Given the description of an element on the screen output the (x, y) to click on. 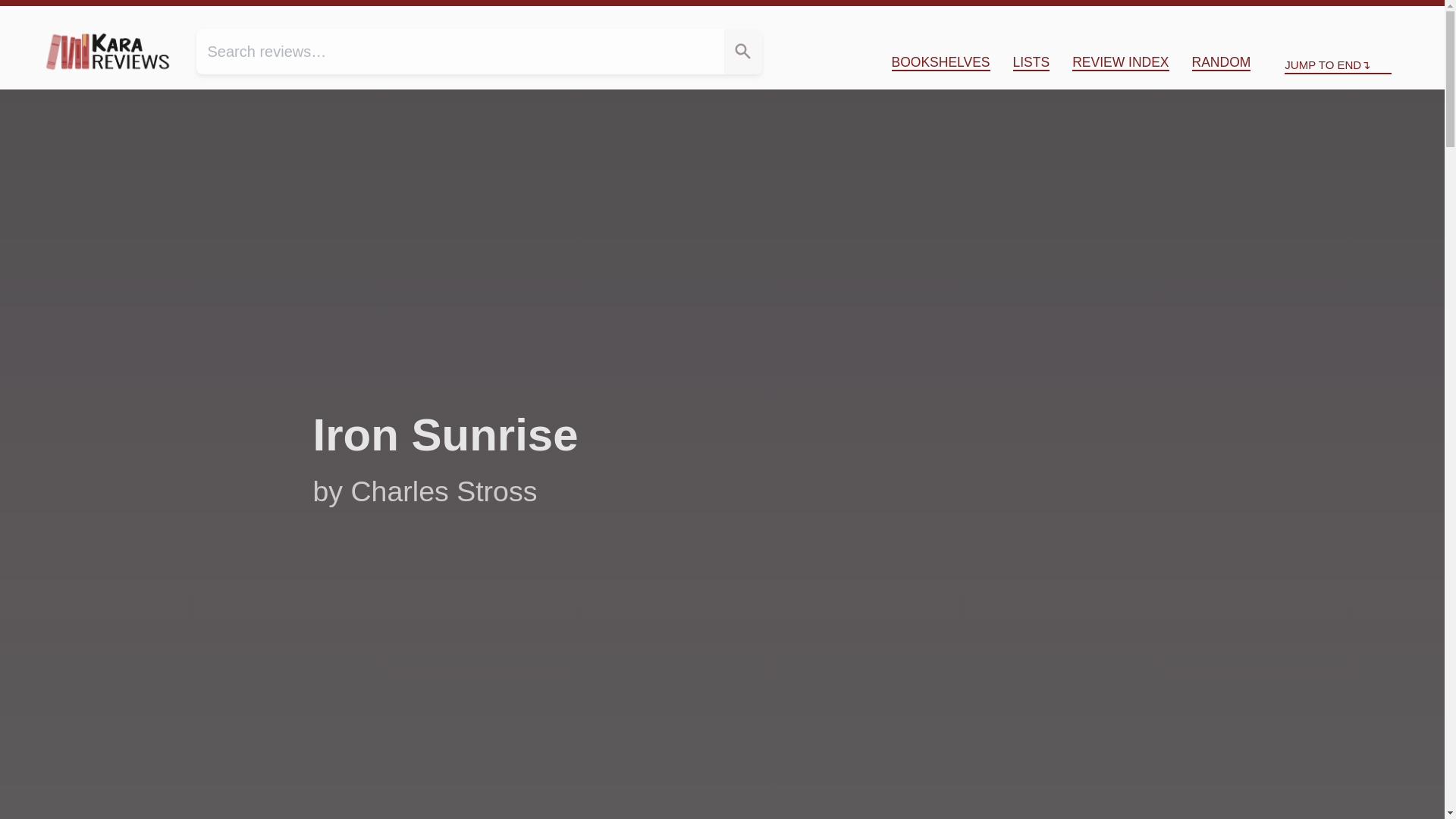
Series, Top 10 lists, and more! (1031, 62)
Reviews organized by categories (940, 62)
RANDOM (1221, 62)
Jump to top of page (1317, 18)
Start (1317, 18)
All my reviews, grouped by year and month (1120, 62)
REVIEW INDEX (1120, 62)
End (1393, 18)
Jump to footer (1393, 18)
Are you feeling lucky? (1221, 62)
JUMP TO END (1337, 65)
BOOKSHELVES (940, 62)
LISTS (1031, 62)
